Given the description of an element on the screen output the (x, y) to click on. 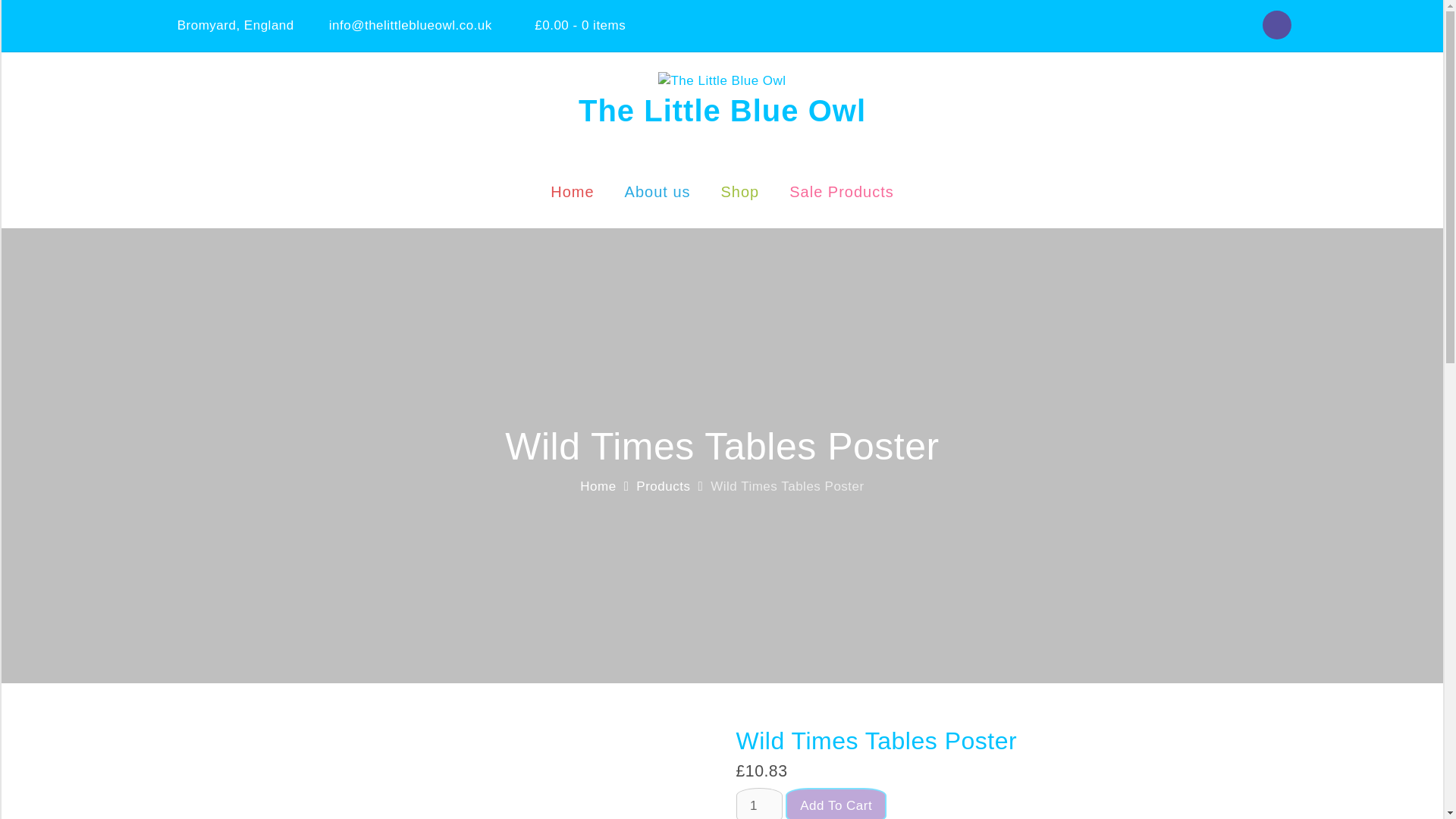
Add To Cart (836, 803)
Home (597, 486)
View your shopping cart (568, 25)
The Little Blue Owl (722, 110)
1 (759, 803)
About us (658, 184)
Bromyard, England (235, 25)
Sale Products (841, 184)
Products (663, 486)
